Given the description of an element on the screen output the (x, y) to click on. 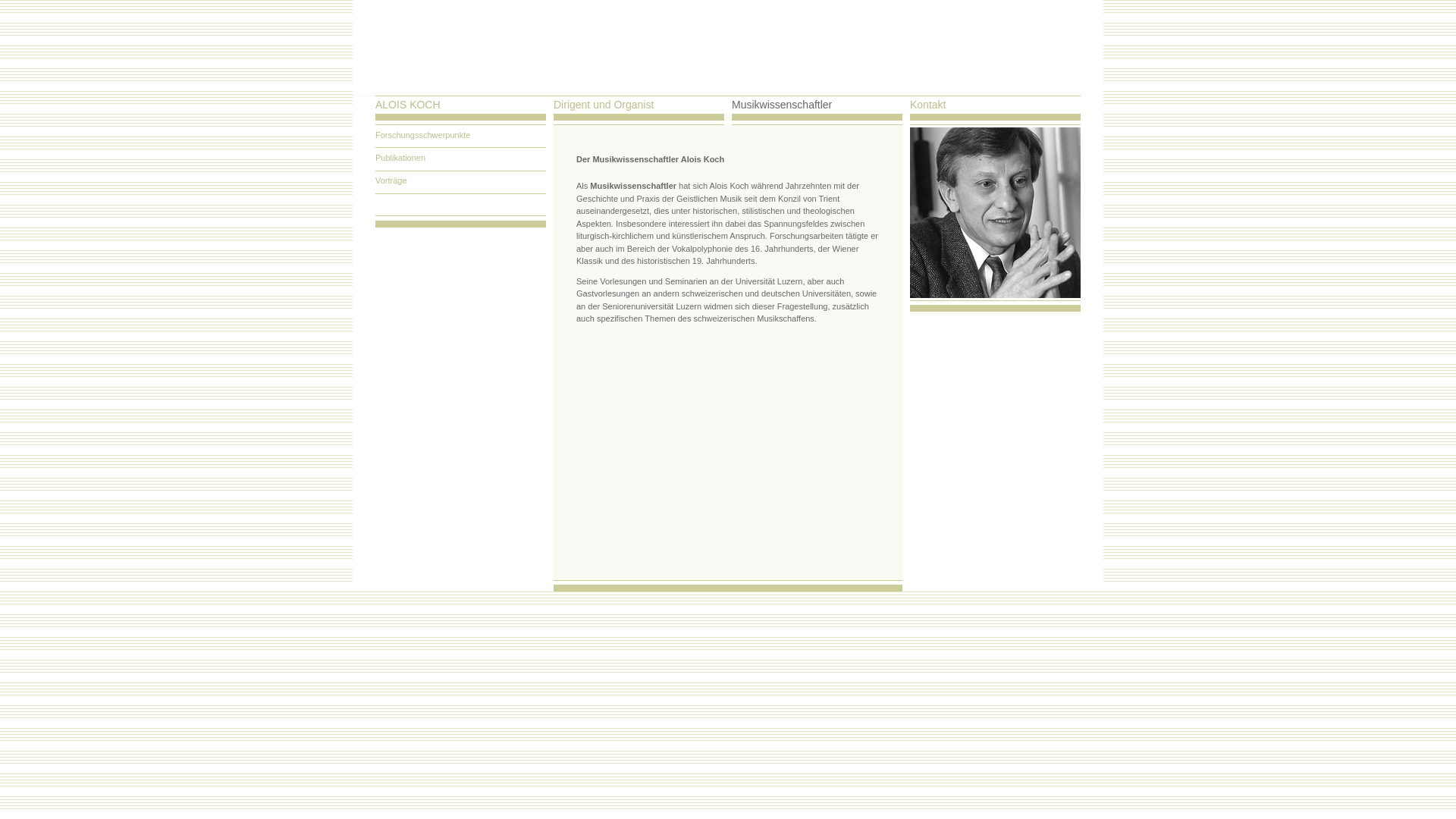
Musikwissenschaftler Element type: text (781, 106)
Kontakt Element type: text (927, 106)
Publikationen Element type: text (460, 158)
ALOIS KOCH Element type: text (407, 106)
Dirigent und Organist Element type: text (603, 106)
Forschungsschwerpunkte Element type: text (460, 136)
